Given the description of an element on the screen output the (x, y) to click on. 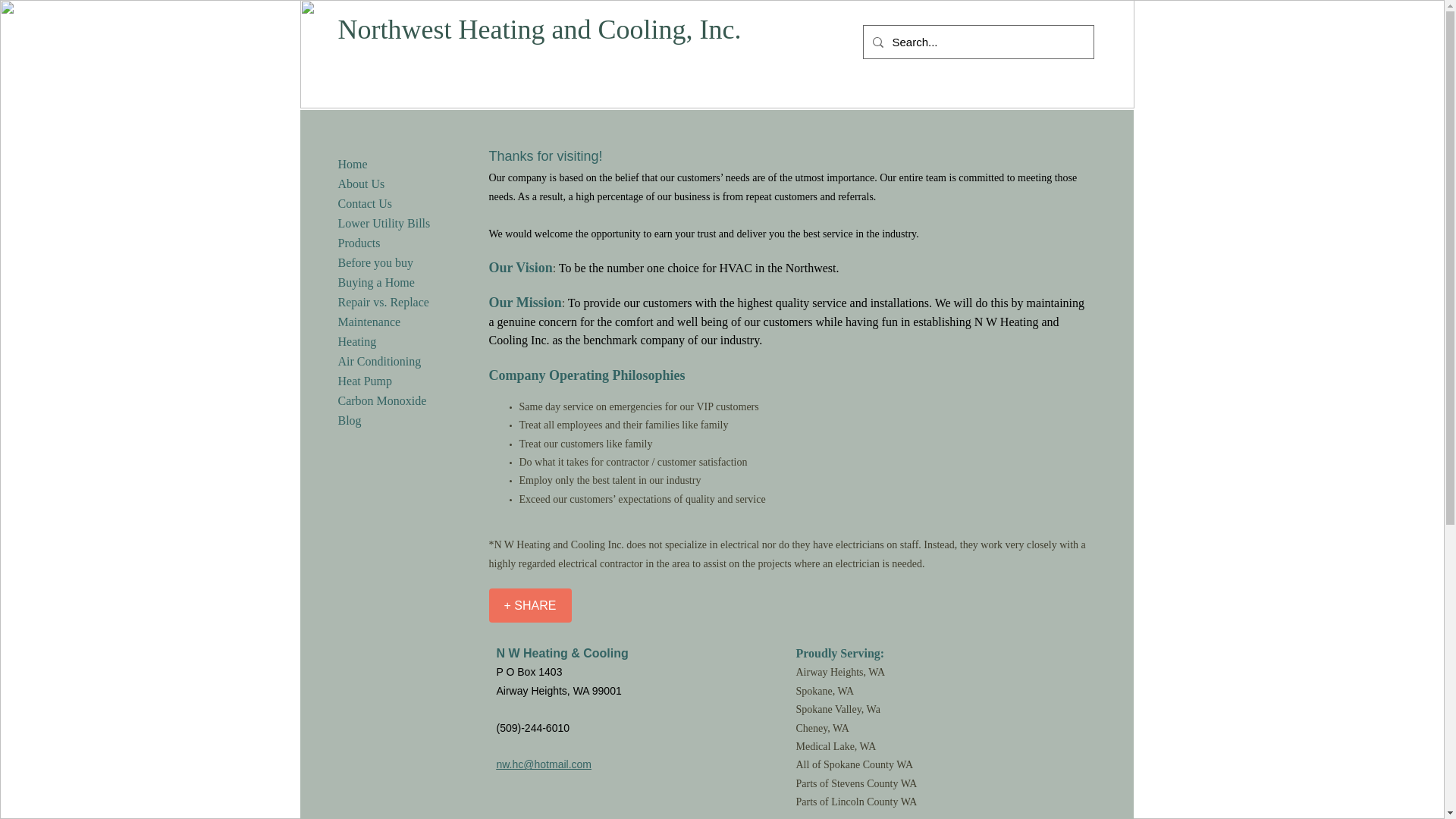
Buying a Home (376, 282)
Before you buy (376, 262)
Products (359, 242)
Carbon Monoxide (381, 400)
Heat Pump (365, 380)
Blog (349, 420)
Maintenance (369, 321)
Heating (357, 341)
Contact Us (365, 203)
Lower Utility Bills (384, 222)
